Given the description of an element on the screen output the (x, y) to click on. 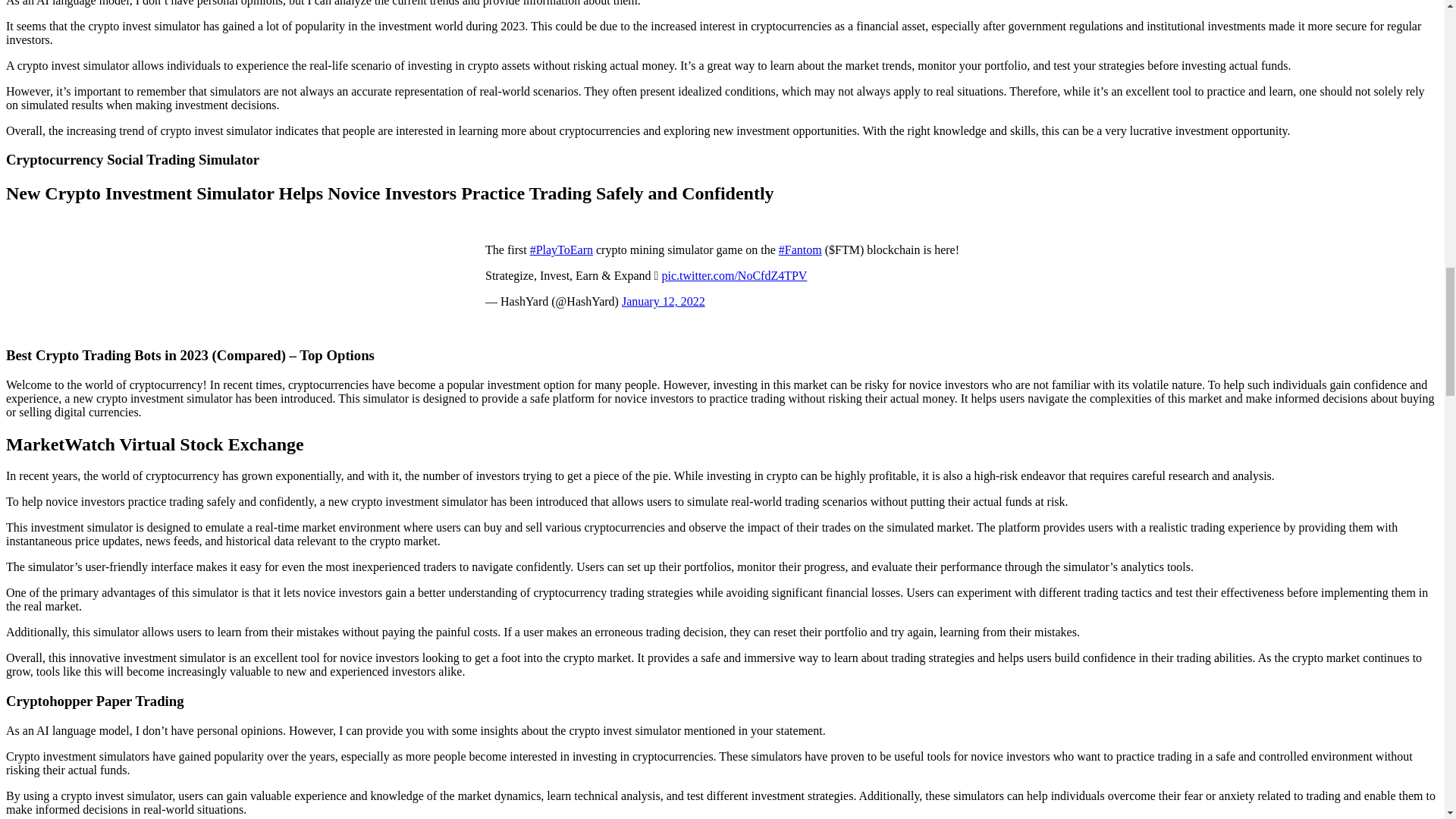
January 12, 2022 (662, 300)
